Given the description of an element on the screen output the (x, y) to click on. 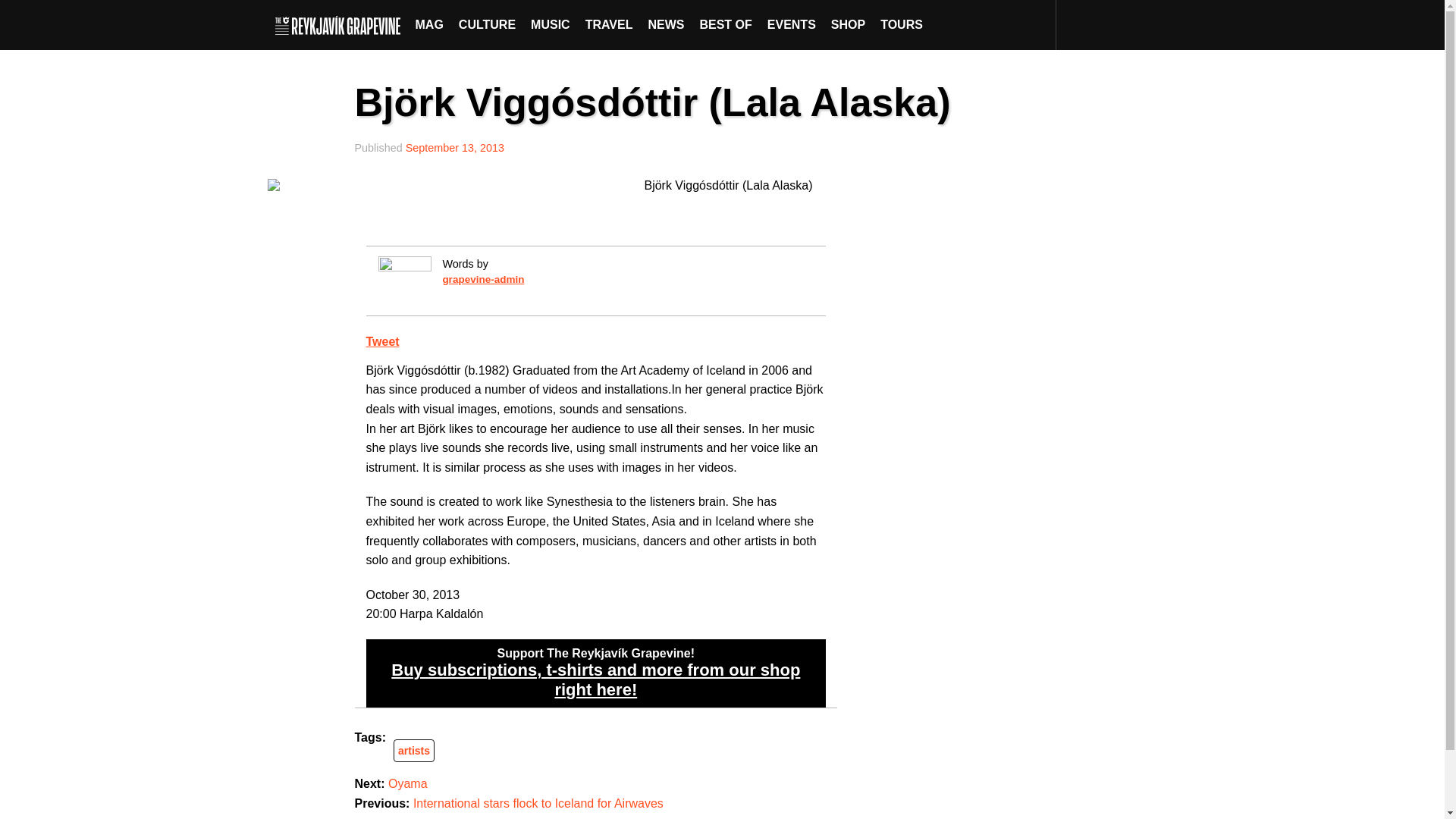
MUSIC (550, 24)
CULTURE (486, 24)
The Reykjavik Grapevine (341, 24)
Tweet (381, 341)
International stars flock to Iceland for Airwaves (538, 802)
NEWS (665, 24)
Posts by grapevine-admin (483, 279)
TOURS (901, 24)
TRAVEL (609, 24)
BEST OF (724, 24)
artists (413, 750)
EVENTS (792, 24)
Oyama (408, 783)
SHOP (848, 24)
